Given the description of an element on the screen output the (x, y) to click on. 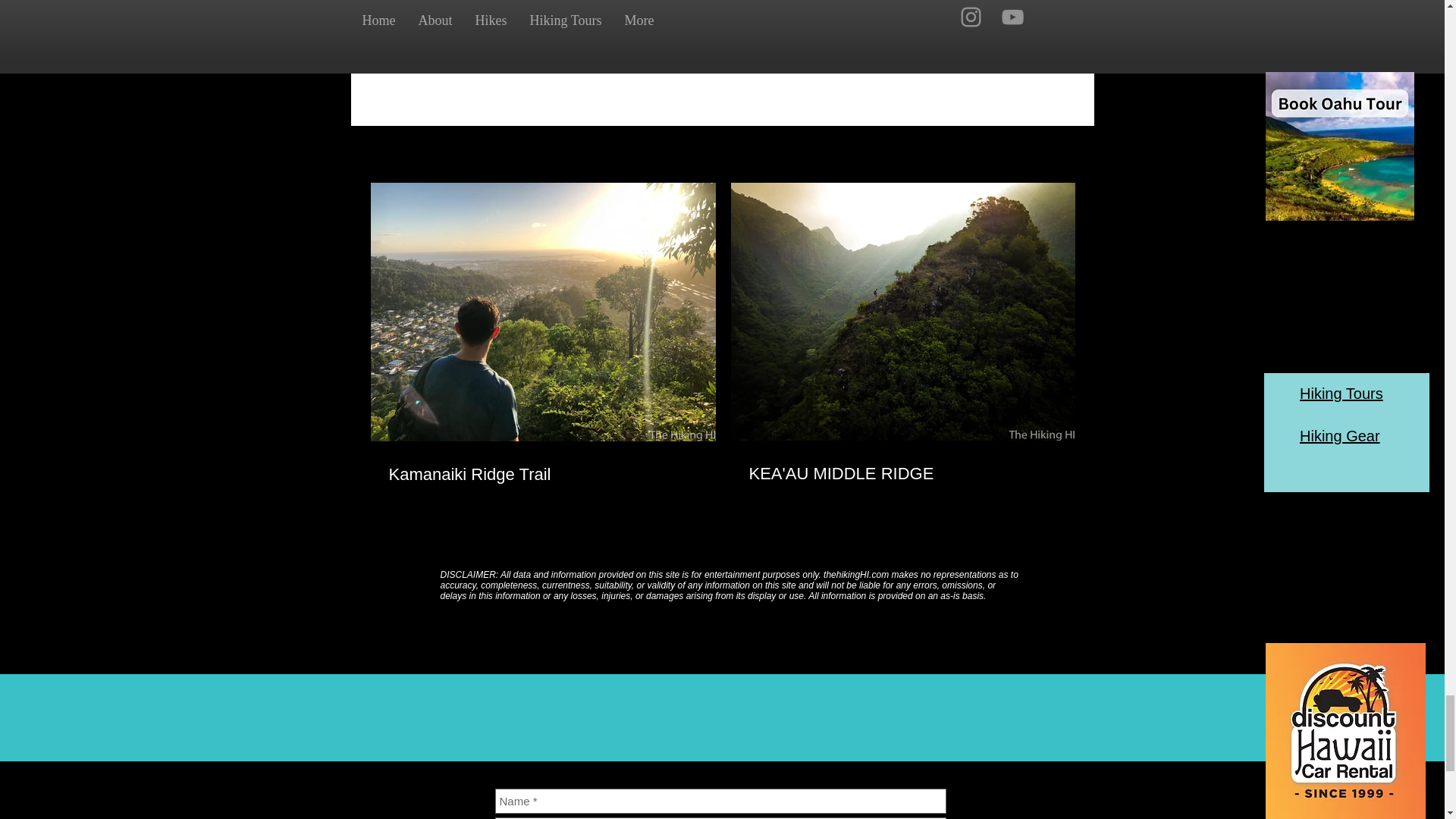
Mini Hikes (890, 10)
Waterfall Hikes (814, 10)
Post not marked as liked (995, 57)
Beginner Hikes (967, 10)
Kamanaiki Ridge Trail (542, 474)
KEA'AU MIDDLE RIDGE (903, 474)
